Given the description of an element on the screen output the (x, y) to click on. 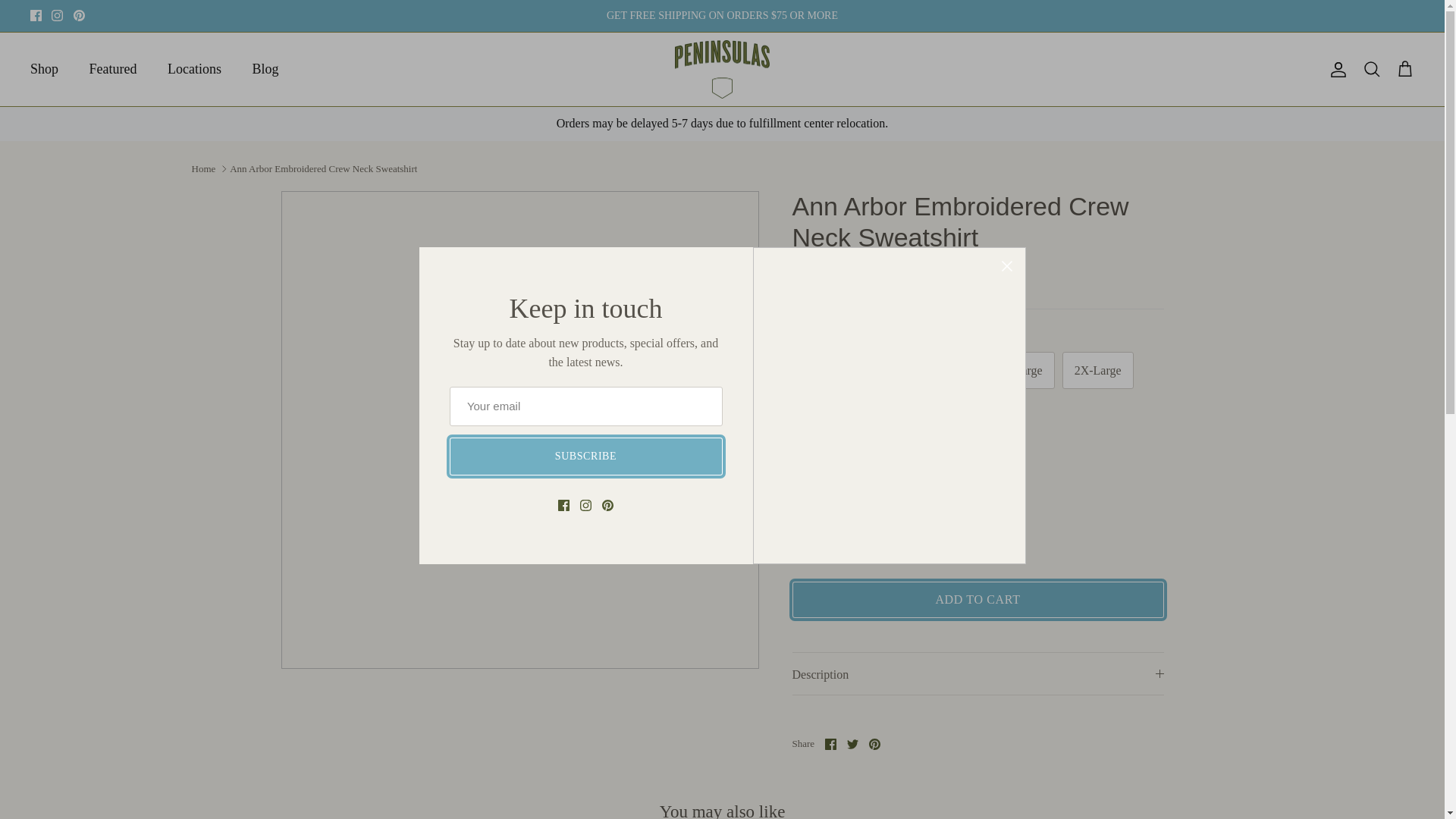
Search (1371, 69)
Plus (897, 533)
Instagram (56, 15)
Locations (194, 69)
Pinterest (78, 15)
Instagram (56, 15)
Pinterest (78, 15)
Shop (43, 69)
Blog (265, 69)
1 (853, 533)
Account (1335, 69)
Peninsulas (722, 69)
Cart (1404, 69)
Facebook (36, 15)
Featured (113, 69)
